Given the description of an element on the screen output the (x, y) to click on. 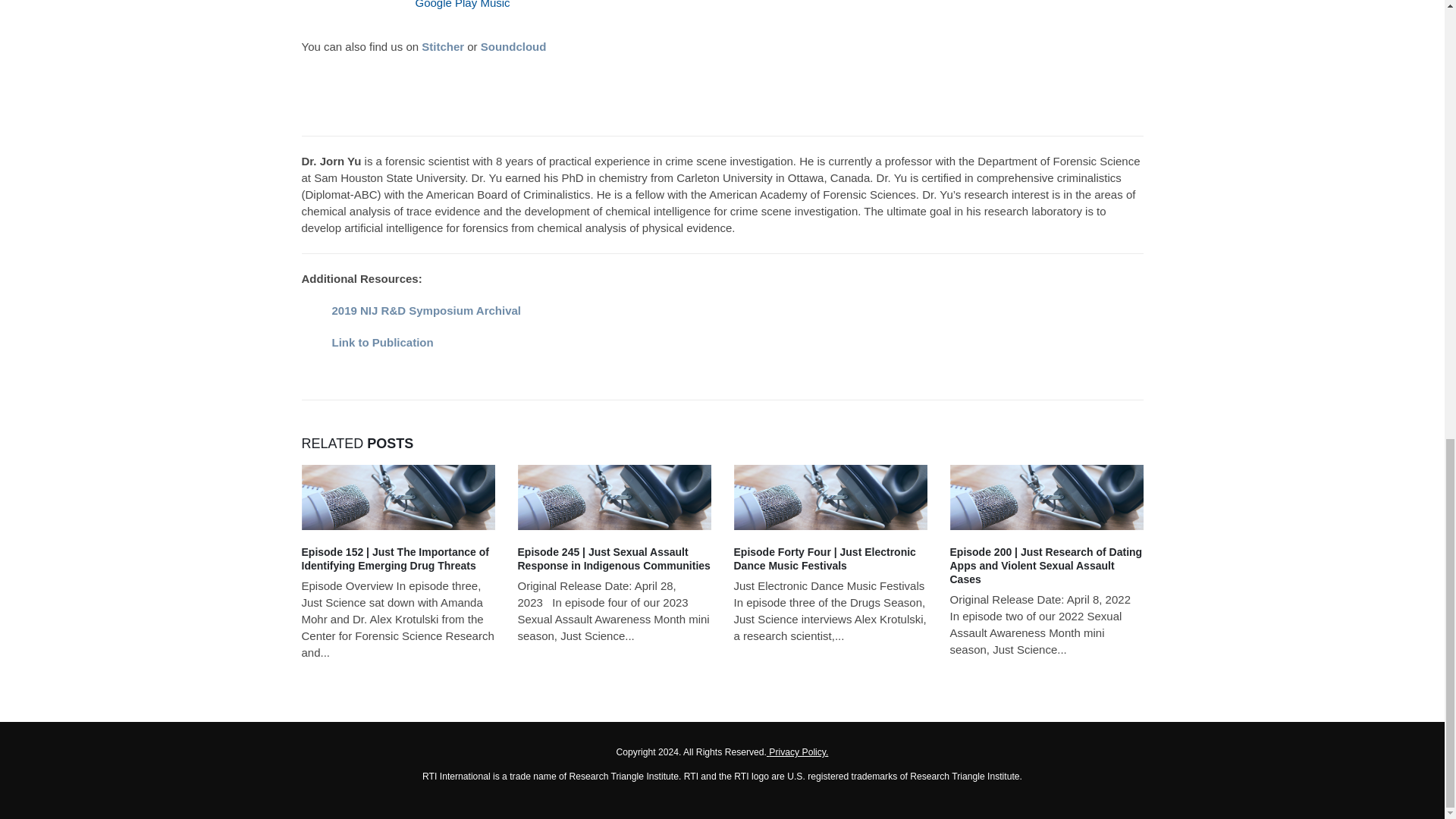
Stitcher (443, 46)
Soundcloud  (515, 46)
Link to Publication (382, 341)
